Given the description of an element on the screen output the (x, y) to click on. 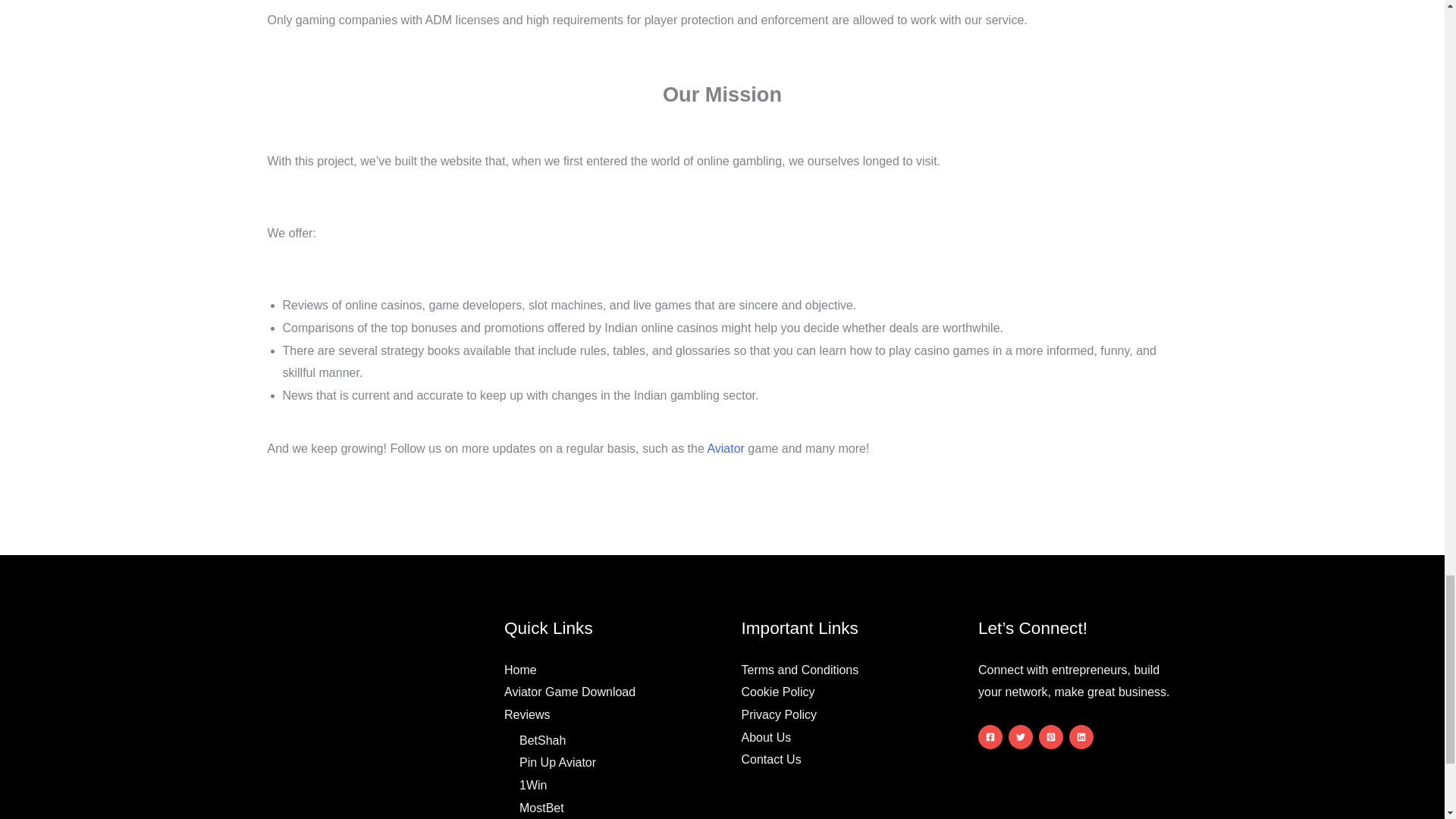
BetShah (542, 739)
MostBet (541, 807)
1Win (533, 784)
Aviator (725, 448)
Pin Up Aviator (557, 762)
Home (520, 669)
Aviator Game Download (568, 691)
Terms and Conditions (800, 669)
Reviews (526, 714)
Cookie Policy (778, 691)
Privacy Policy (778, 714)
